Given the description of an element on the screen output the (x, y) to click on. 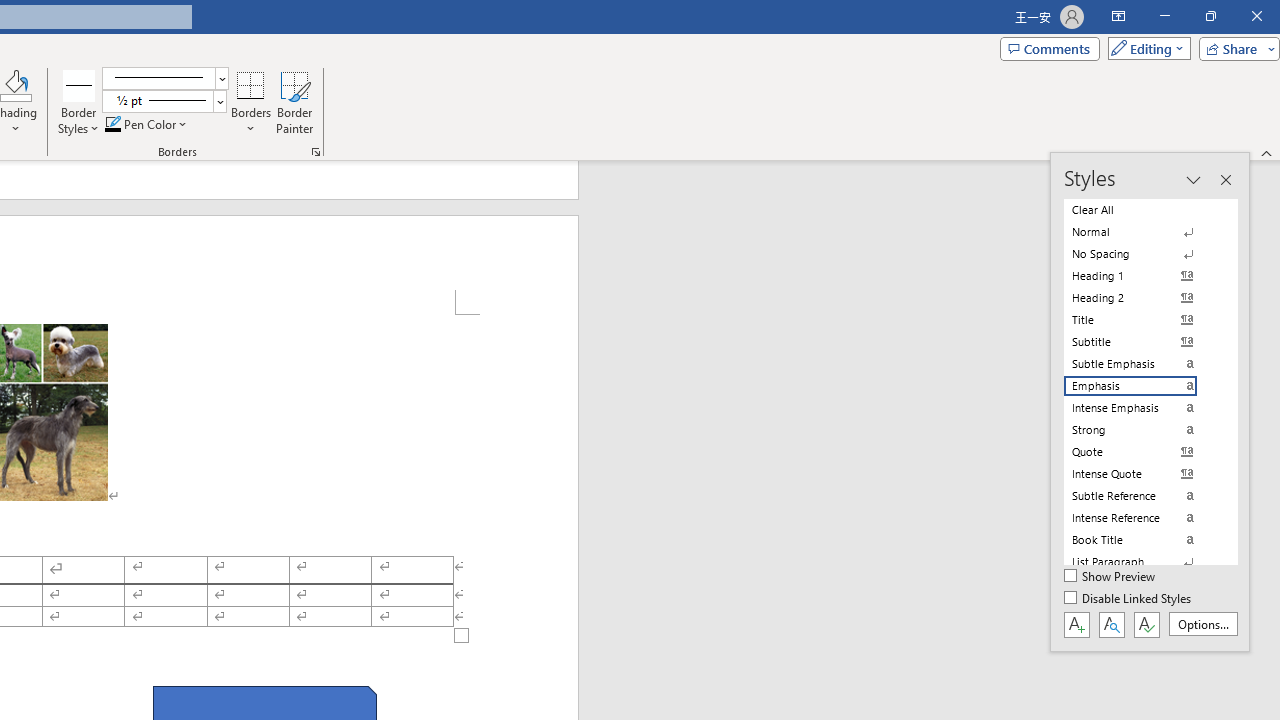
Editing (1144, 47)
Show Preview (1110, 577)
Clear All (1142, 209)
Subtle Reference (1142, 495)
Border Painter (294, 102)
Borders and Shading... (315, 151)
Emphasis (1142, 385)
Class: MsoCommandBar (1149, 401)
Subtle Emphasis (1142, 363)
